Given the description of an element on the screen output the (x, y) to click on. 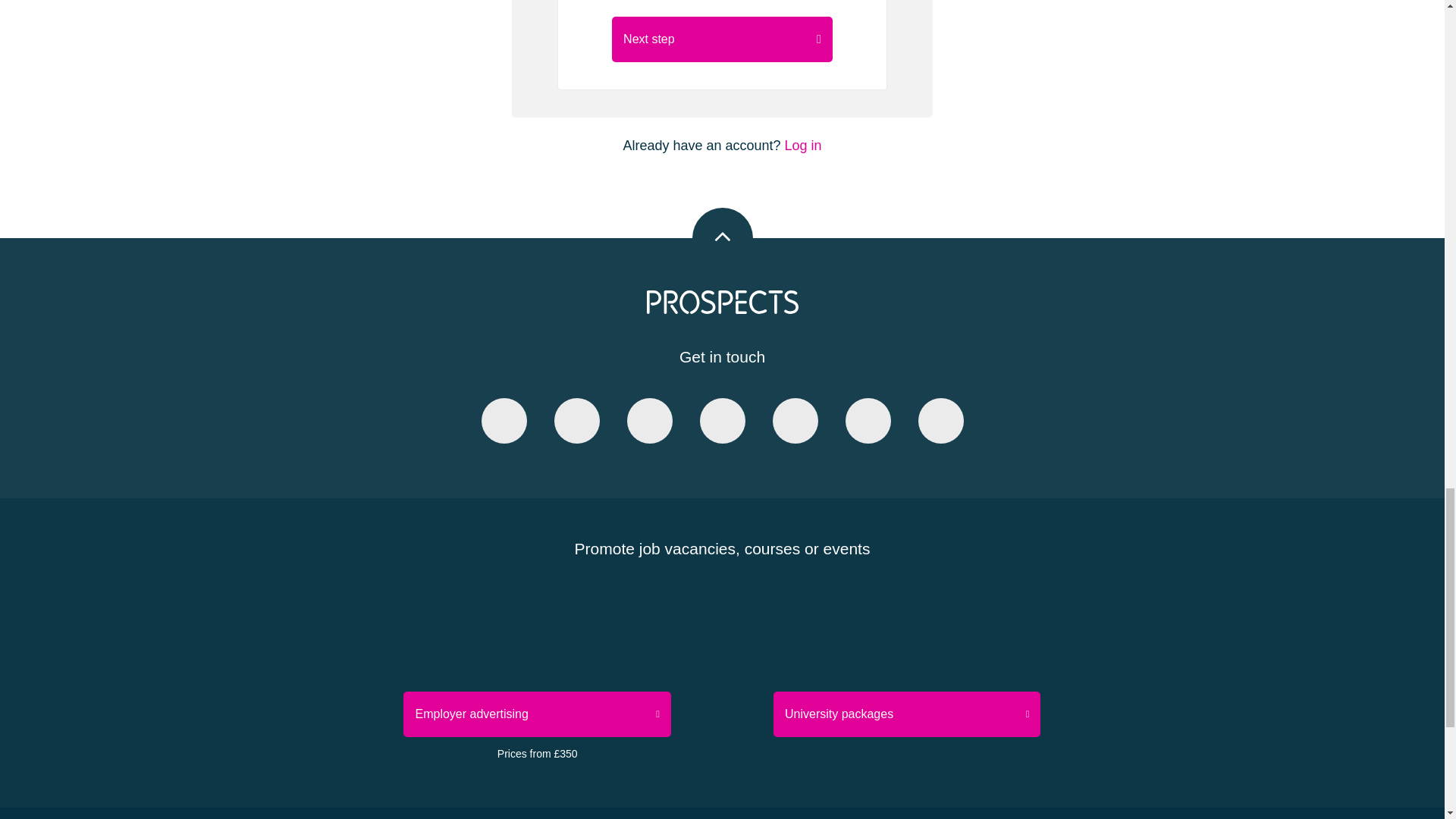
Back to top (721, 238)
